Given the description of an element on the screen output the (x, y) to click on. 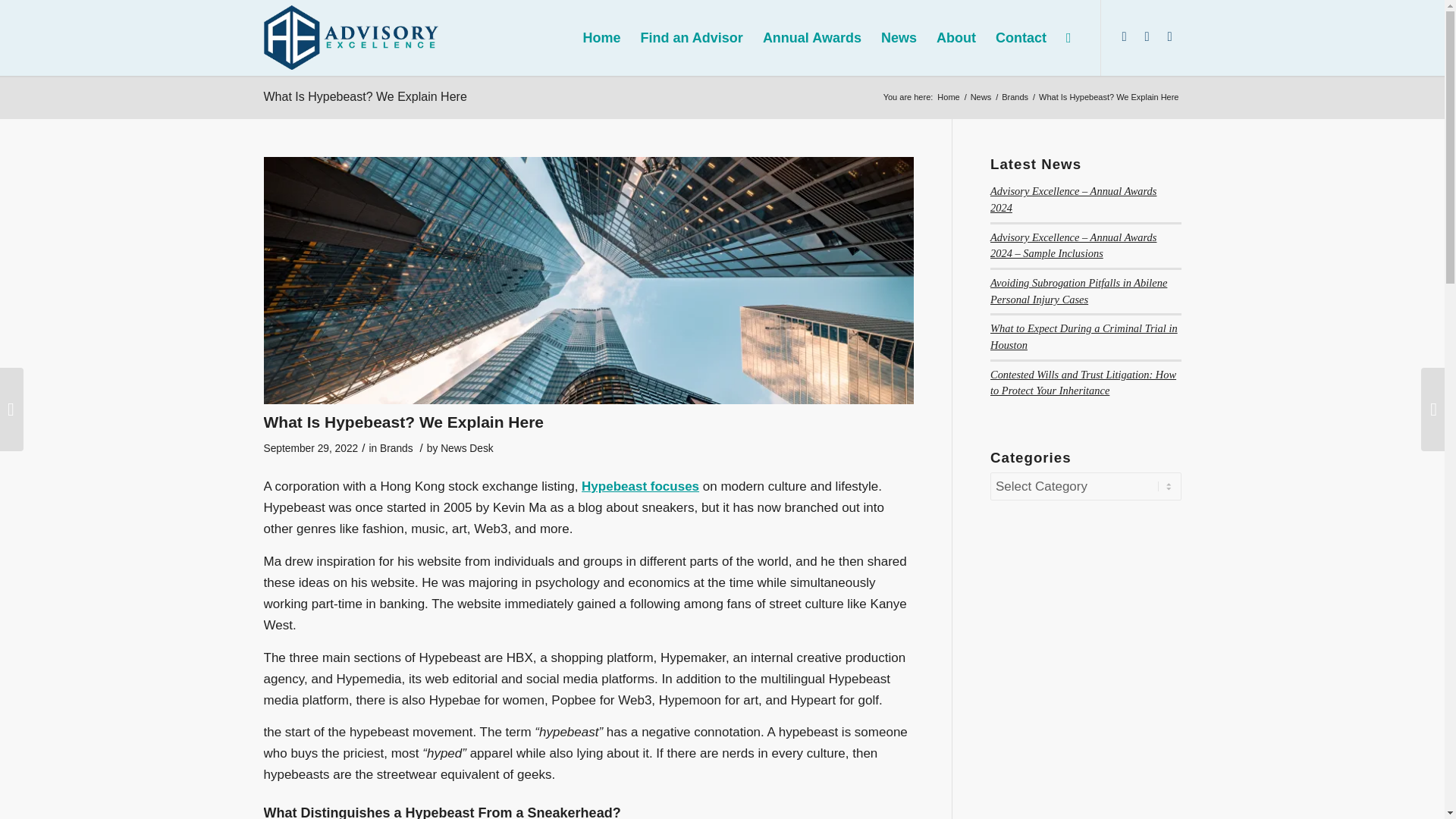
Find an Advisor (691, 38)
News (981, 97)
Annual Awards (811, 38)
What Is Hypebeast? We Explain Here (365, 96)
Facebook (1169, 36)
Permanent Link: What Is Hypebeast? We Explain Here (365, 96)
Advisory Excellence (947, 97)
LinkedIn (1124, 36)
Brands (396, 448)
Twitter (1146, 36)
